Given the description of an element on the screen output the (x, y) to click on. 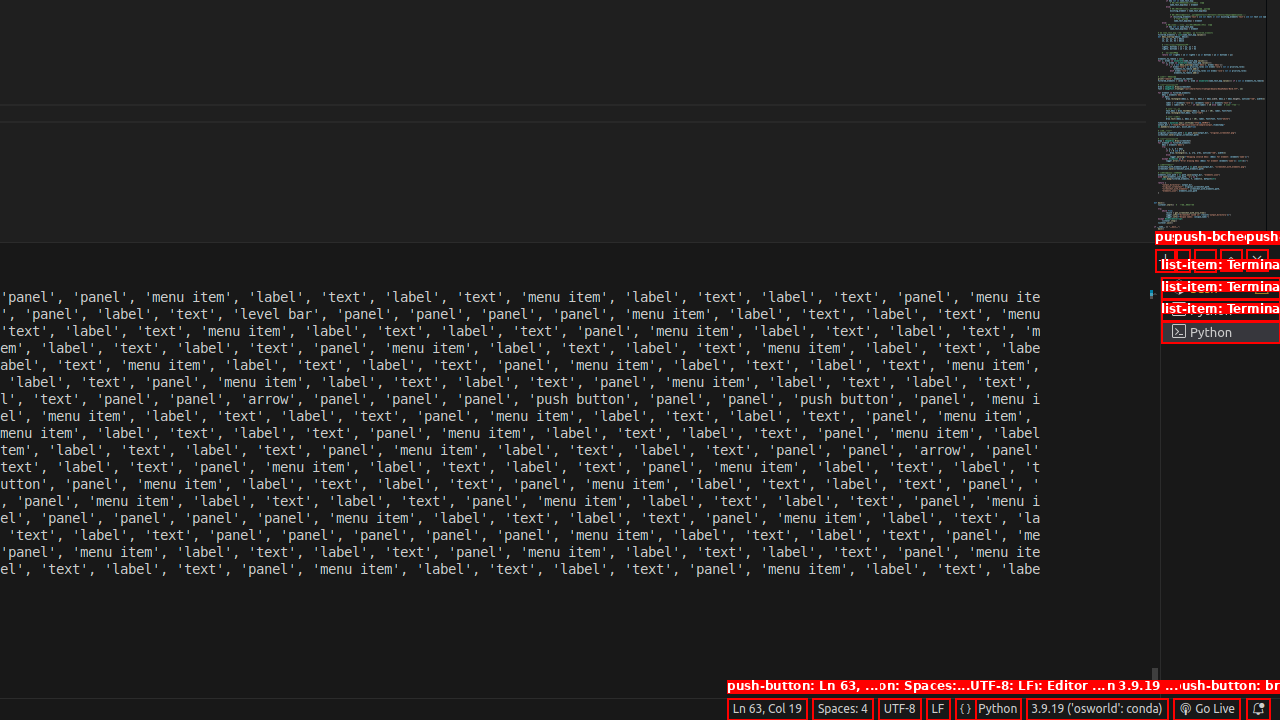
Launch Profile... Element type: push-button (1182, 260)
UTF-8 Element type: push-button (899, 709)
